Given the description of an element on the screen output the (x, y) to click on. 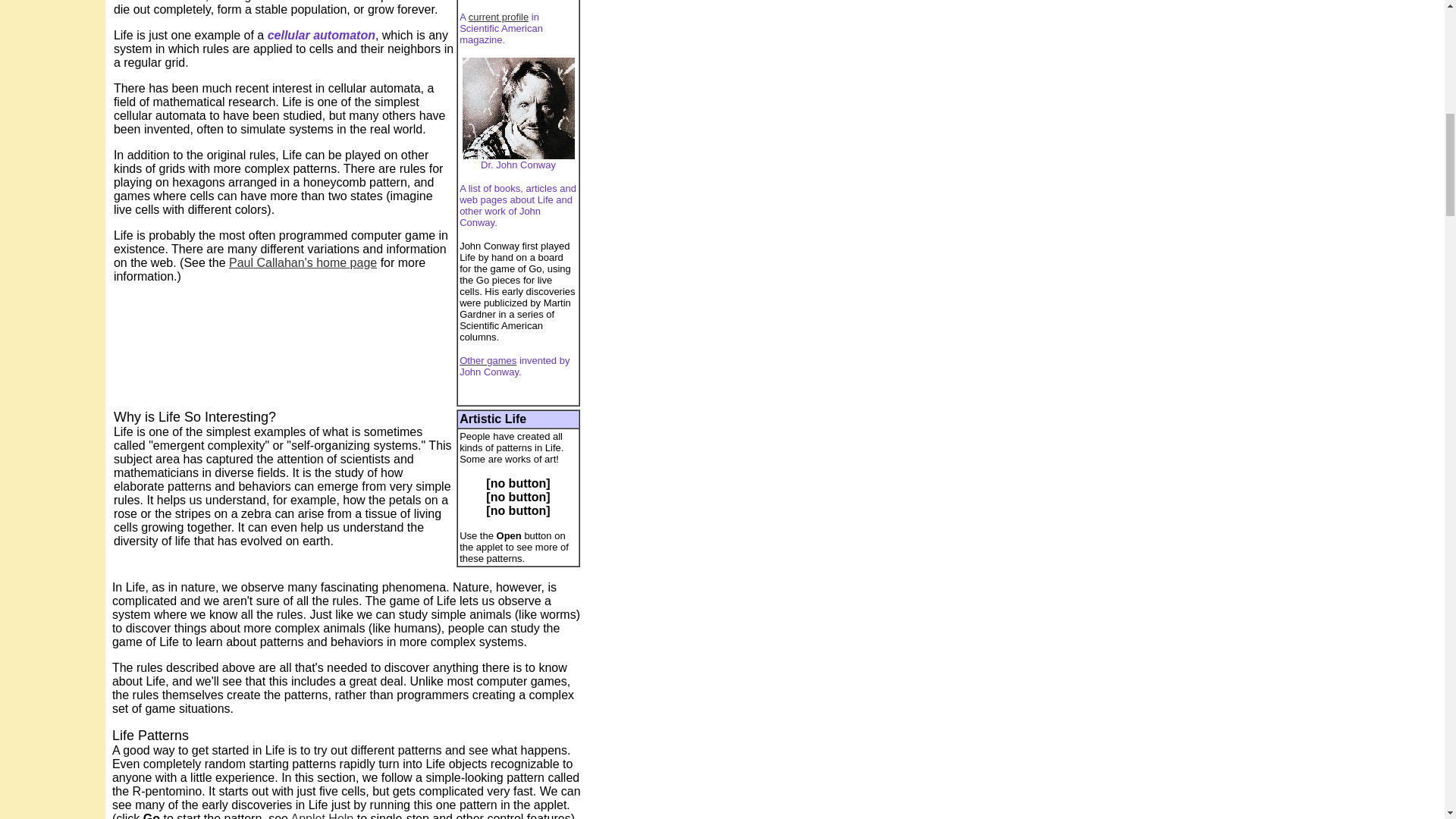
Paul Callahan's home page (302, 262)
current profile (498, 16)
Applet Help (322, 815)
Other games (488, 360)
